Given the description of an element on the screen output the (x, y) to click on. 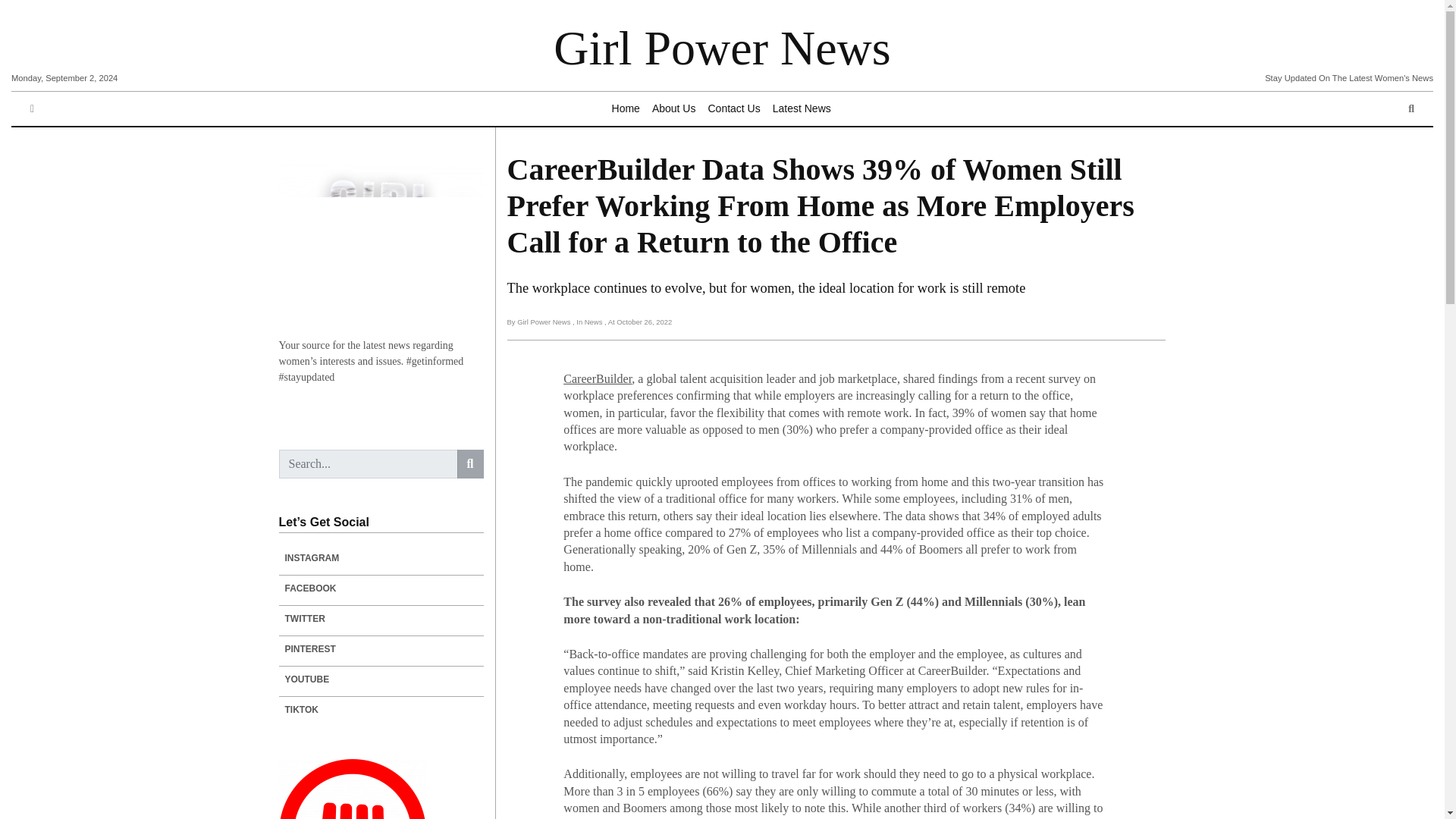
Home (625, 108)
Home (625, 108)
CareerBuilder (597, 378)
Girl Power News (721, 48)
About Us (673, 108)
Latest News (802, 108)
Contact Us (733, 108)
About Us (673, 108)
Latest News (802, 108)
Contact Us (733, 108)
